Given the description of an element on the screen output the (x, y) to click on. 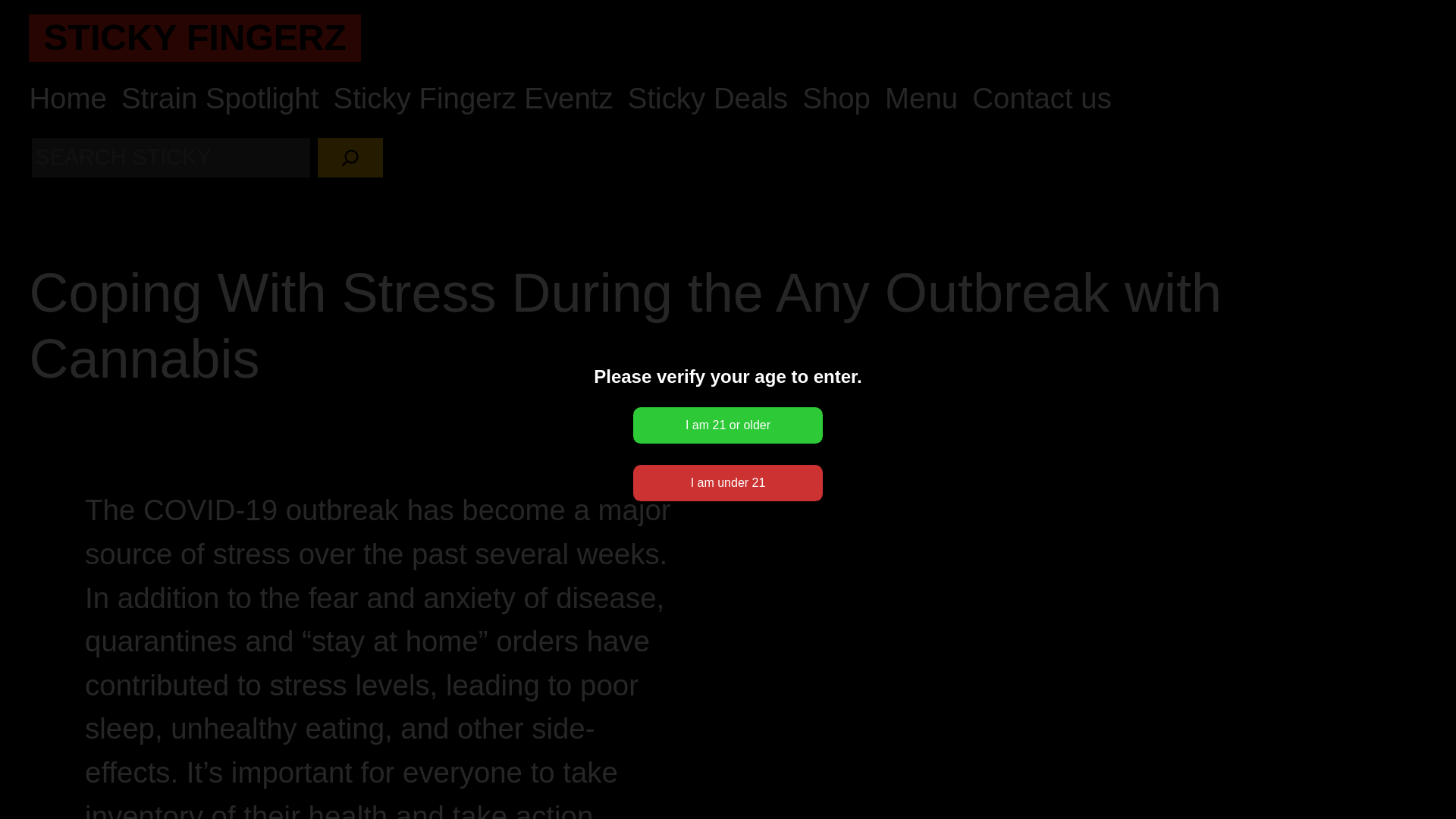
I am under 21 (727, 483)
Sticky Fingerz Eventz (472, 98)
I am 21 or older (727, 425)
Strain Spotlight (219, 98)
Menu (921, 98)
Home (67, 98)
Contact us (1042, 98)
STICKY FINGERZ (194, 37)
Shop (836, 98)
Sticky Deals (707, 98)
